Given the description of an element on the screen output the (x, y) to click on. 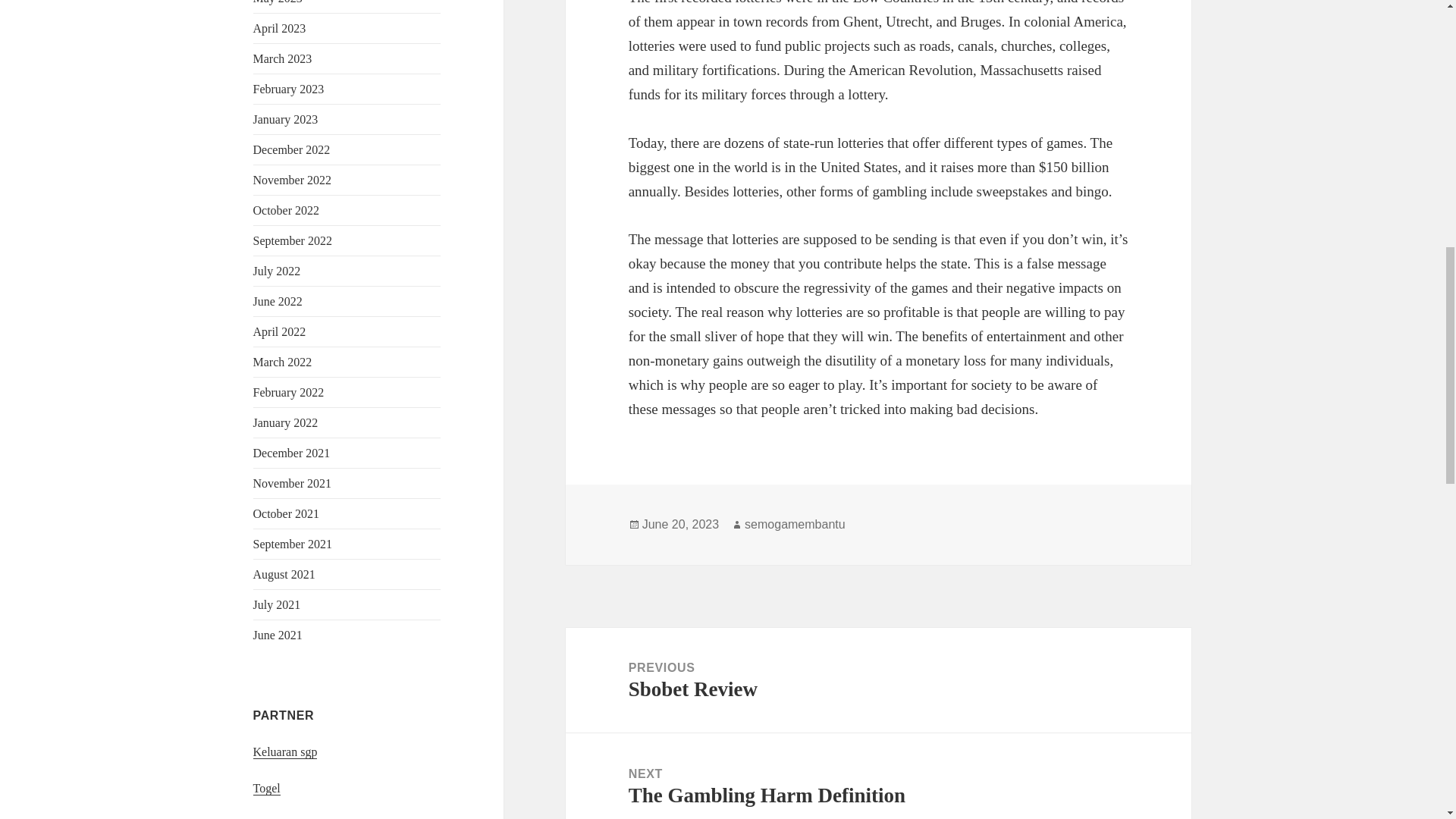
October 2021 (286, 513)
December 2021 (291, 452)
December 2022 (291, 149)
March 2023 (283, 58)
April 2023 (279, 28)
February 2023 (288, 88)
October 2022 (286, 210)
November 2022 (292, 179)
January 2023 (285, 119)
June 2022 (277, 300)
